Given the description of an element on the screen output the (x, y) to click on. 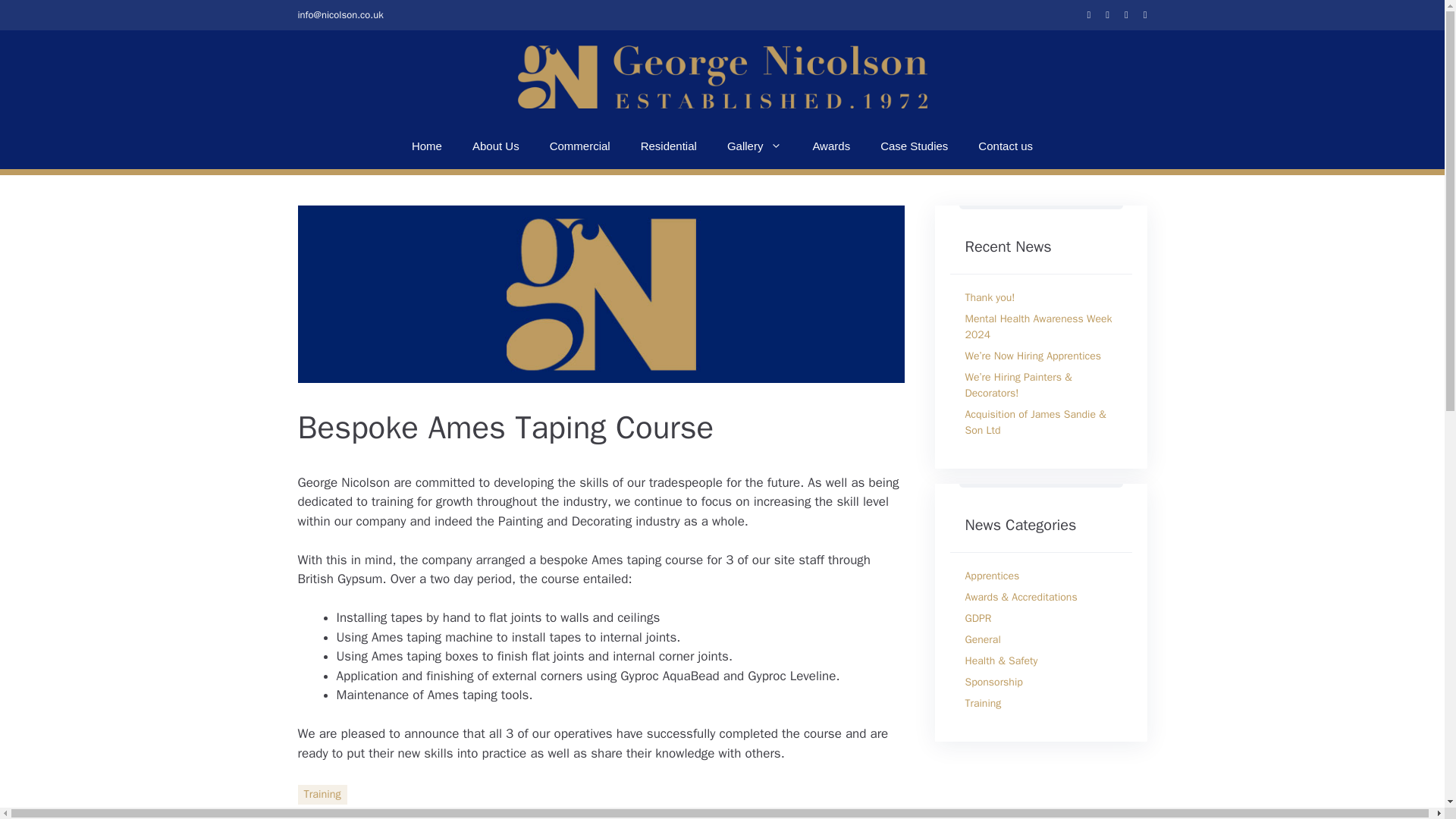
Home (426, 145)
Thank you! (988, 297)
Residential (668, 145)
Gallery (754, 145)
About Us (495, 145)
Contact us (1005, 145)
Case Studies (913, 145)
Awards (830, 145)
Commercial (580, 145)
Mental Health Awareness Week 2024 (1037, 326)
Training (321, 794)
